Given the description of an element on the screen output the (x, y) to click on. 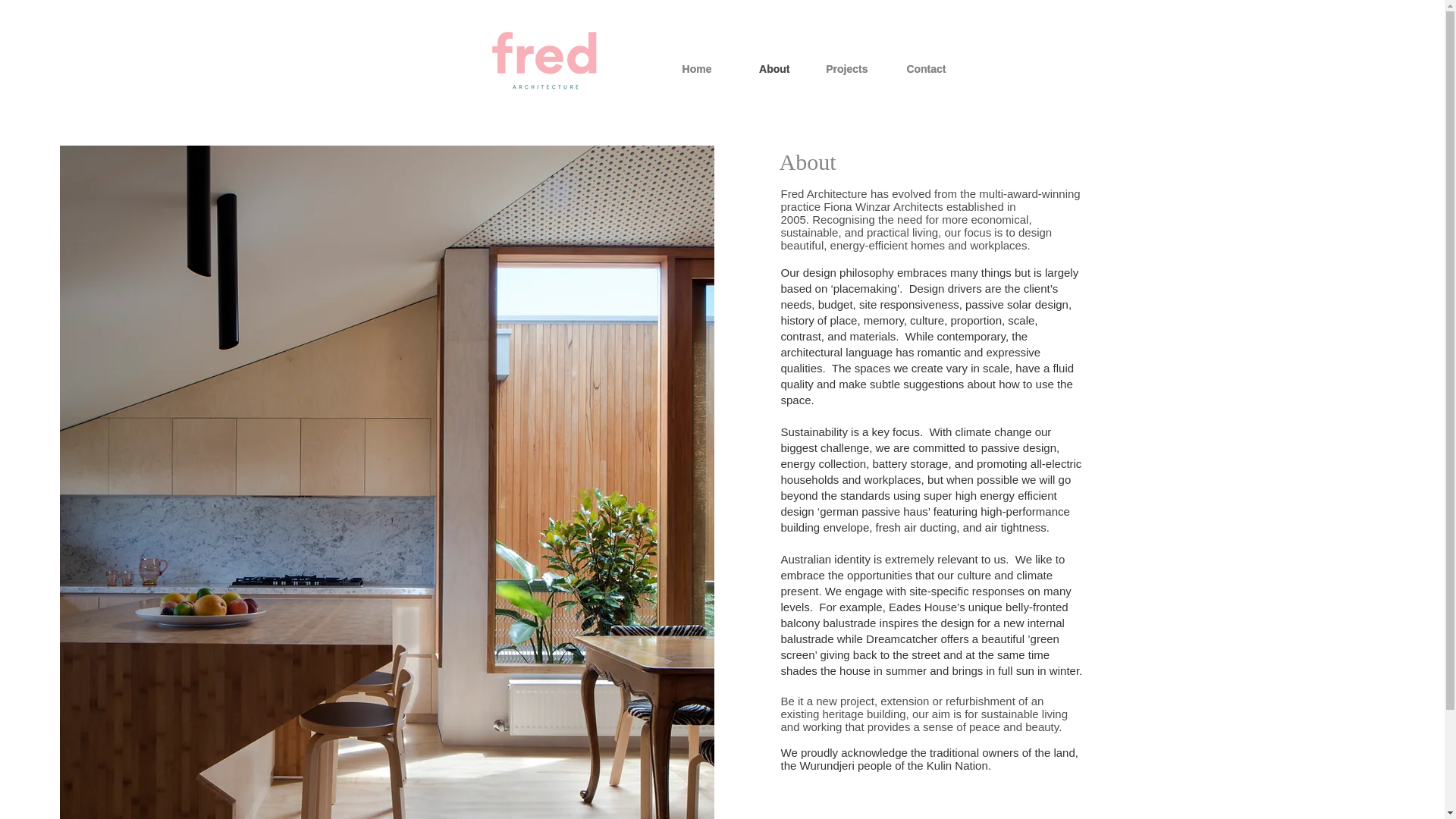
About (762, 68)
About (806, 161)
Projects (839, 68)
Home (684, 68)
Contact (918, 68)
